Given the description of an element on the screen output the (x, y) to click on. 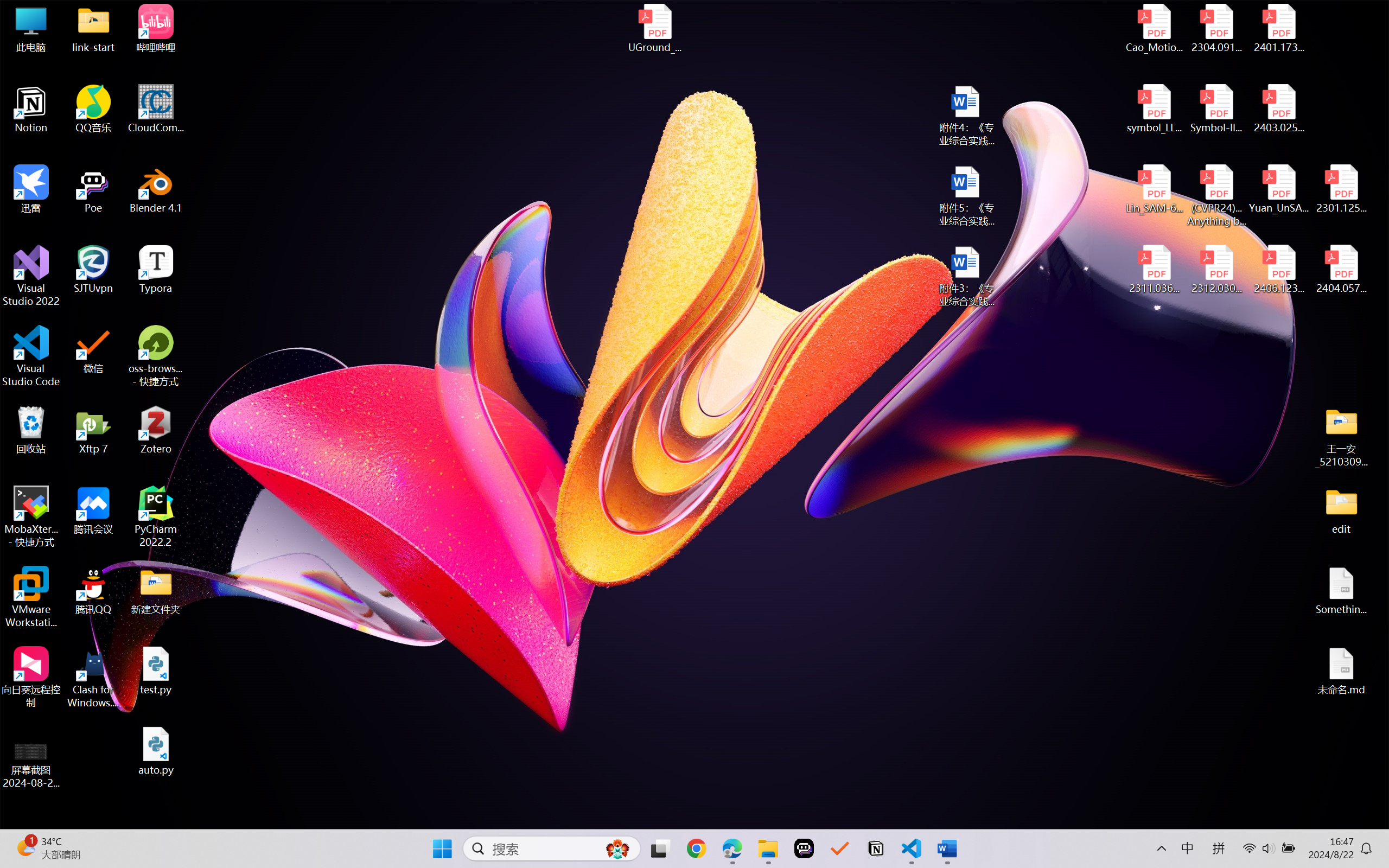
Pen: Galaxy, 1 mm (230, 94)
Python (26, 482)
Ink to Shape (483, 97)
